Given the description of an element on the screen output the (x, y) to click on. 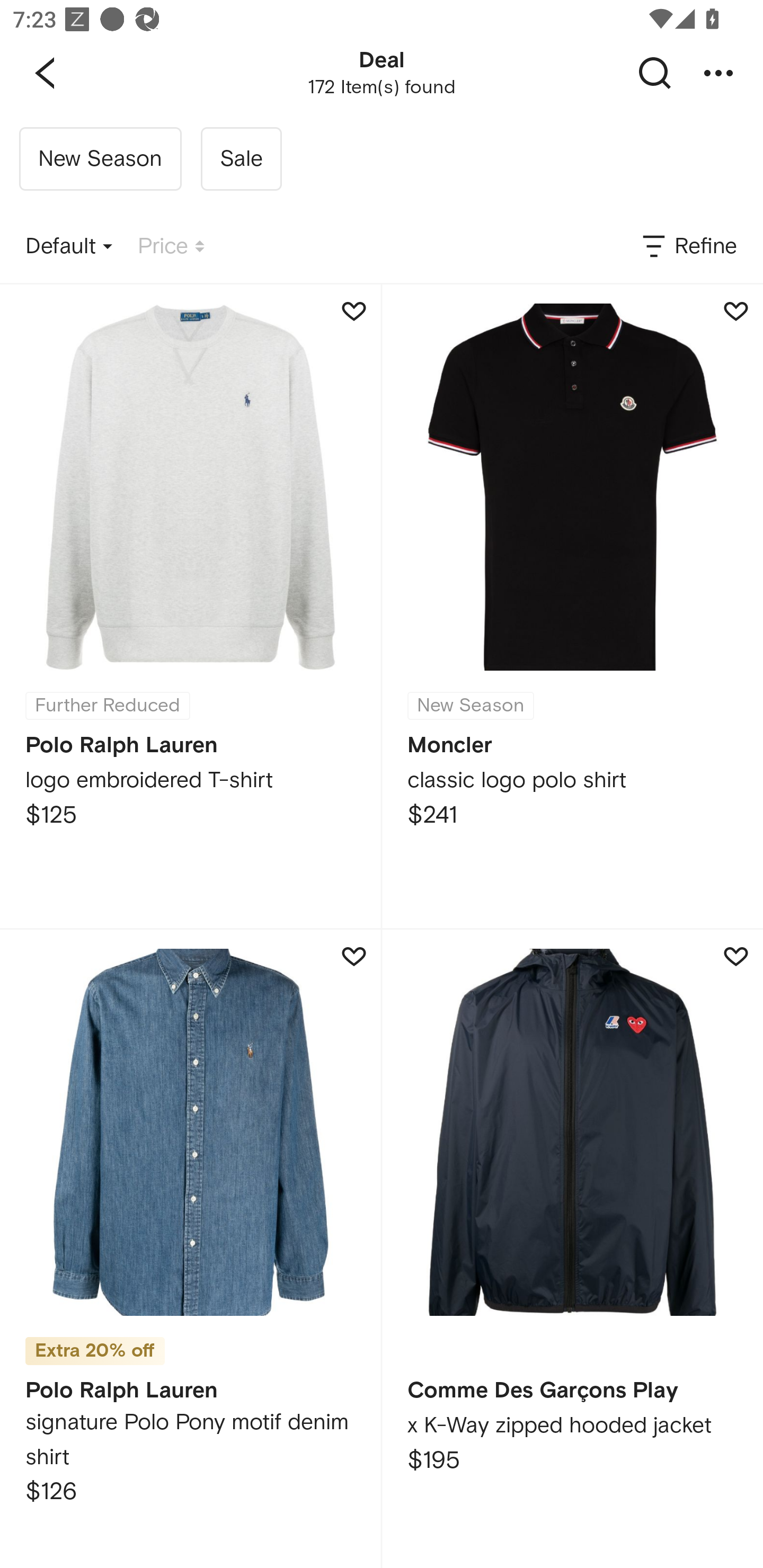
New Season (100, 158)
Sale (240, 158)
Default (68, 246)
Price (171, 246)
Refine (688, 246)
New Season Moncler classic logo polo shirt $241 (572, 605)
Extra 20% off (94, 1344)
